Given the description of an element on the screen output the (x, y) to click on. 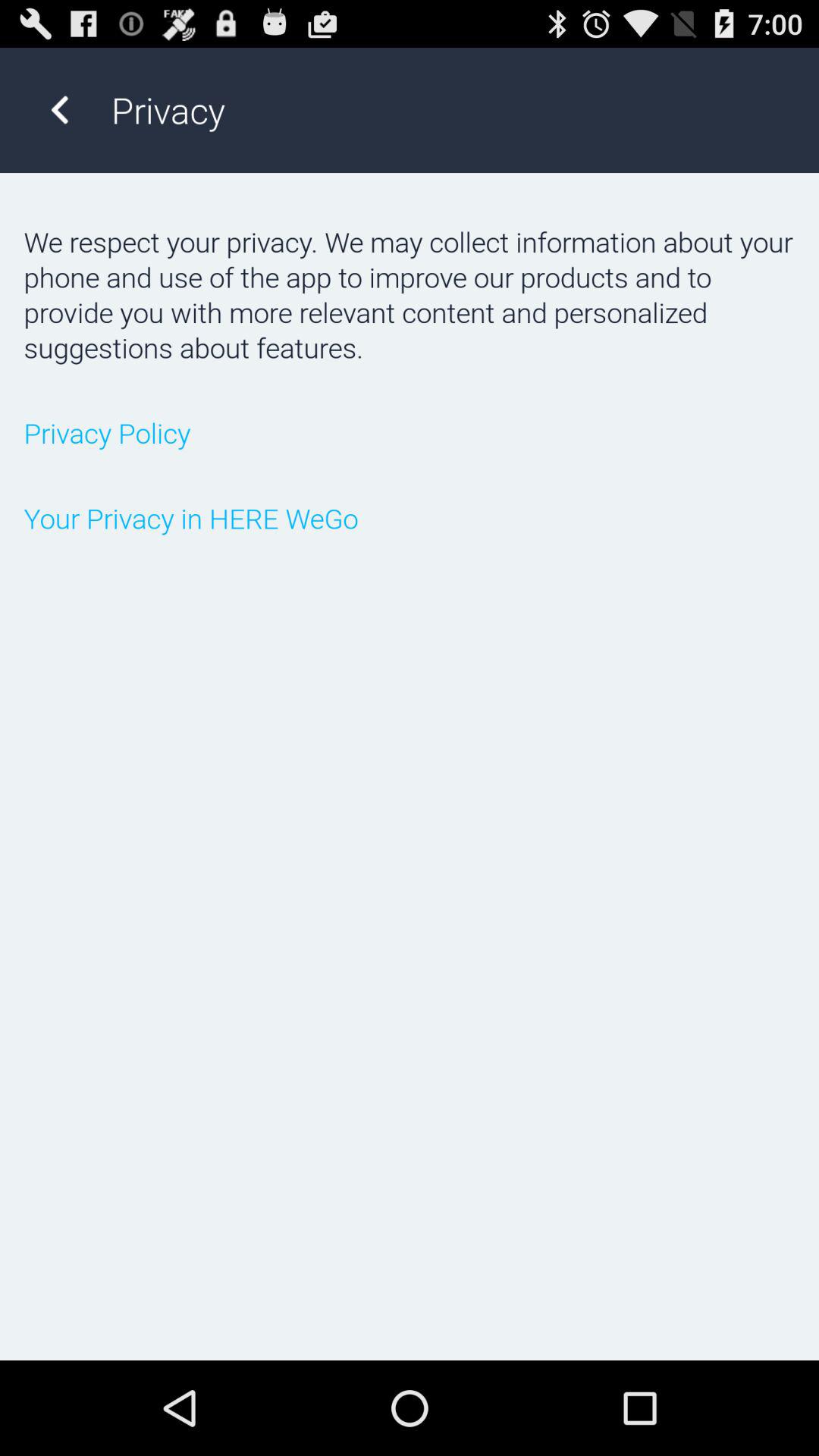
press item at the top left corner (59, 109)
